Given the description of an element on the screen output the (x, y) to click on. 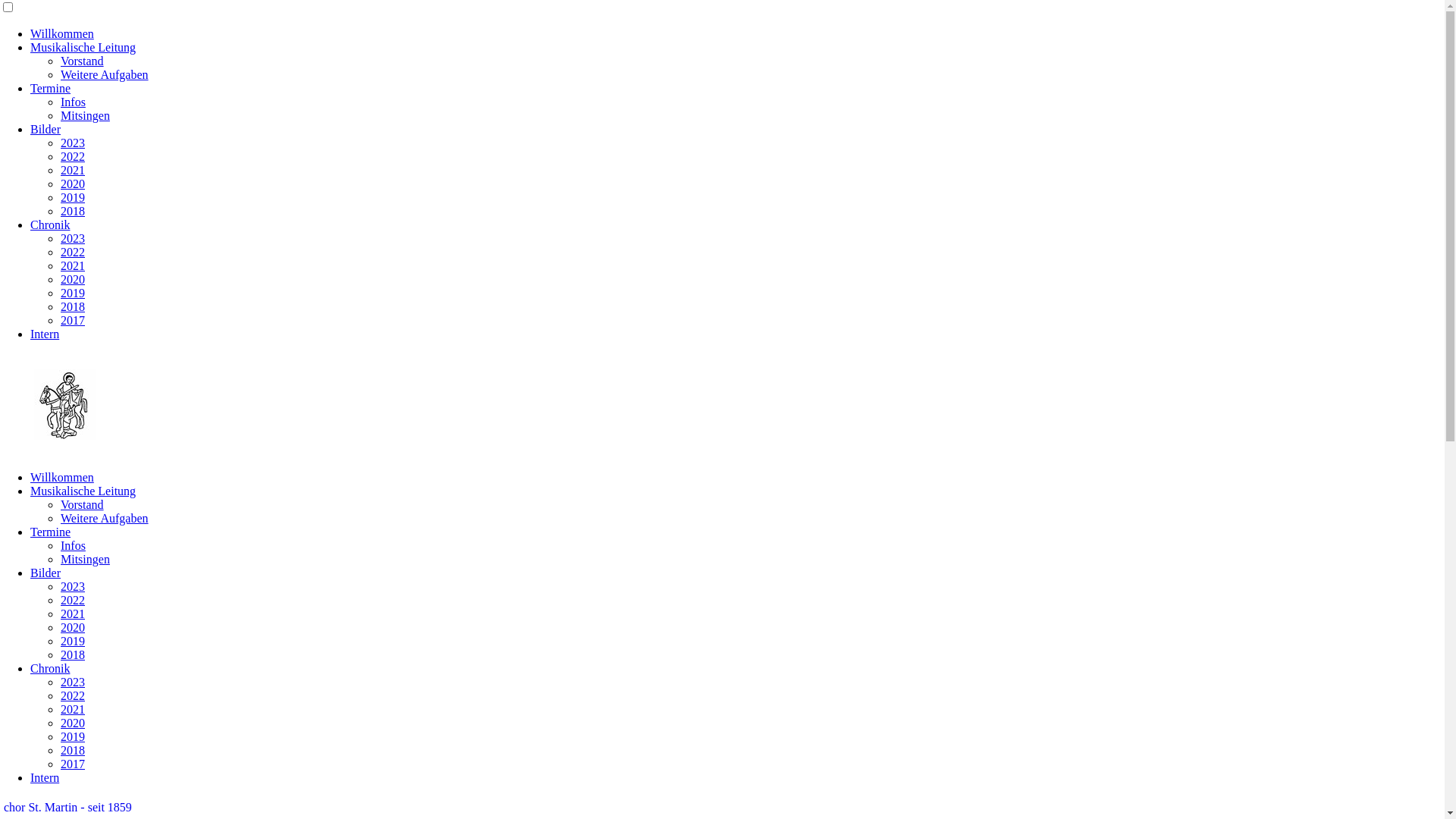
2017 Element type: text (72, 763)
2020 Element type: text (72, 722)
2018 Element type: text (72, 210)
2022 Element type: text (72, 695)
Weitere Aufgaben Element type: text (104, 517)
2022 Element type: text (72, 599)
2023 Element type: text (72, 586)
2020 Element type: text (72, 183)
Vorstand Element type: text (81, 504)
Chronik Element type: text (49, 668)
Infos Element type: text (72, 545)
Bilder Element type: text (45, 572)
2023 Element type: text (72, 238)
Mitsingen Element type: text (84, 115)
Termine Element type: text (50, 531)
2021 Element type: text (72, 613)
2017 Element type: text (72, 319)
2022 Element type: text (72, 251)
Willkommen Element type: text (62, 33)
Vorstand Element type: text (81, 60)
Musikalische Leitung Element type: text (82, 490)
Mitsingen Element type: text (84, 558)
Weitere Aufgaben Element type: text (104, 74)
2023 Element type: text (72, 681)
2019 Element type: text (72, 736)
Infos Element type: text (72, 101)
2022 Element type: text (72, 156)
2018 Element type: text (72, 654)
Chronik Element type: text (49, 224)
2019 Element type: text (72, 292)
Bilder Element type: text (45, 128)
2021 Element type: text (72, 169)
Musikalische Leitung Element type: text (82, 46)
2021 Element type: text (72, 708)
2019 Element type: text (72, 640)
Willkommen Element type: text (62, 476)
Intern Element type: text (44, 333)
2021 Element type: text (72, 265)
Intern Element type: text (44, 777)
Termine Element type: text (50, 87)
chor St. Martin - seit 1859 Element type: text (67, 806)
2020 Element type: text (72, 279)
2019 Element type: text (72, 197)
2018 Element type: text (72, 306)
2020 Element type: text (72, 627)
2018 Element type: text (72, 749)
2023 Element type: text (72, 142)
